Given the description of an element on the screen output the (x, y) to click on. 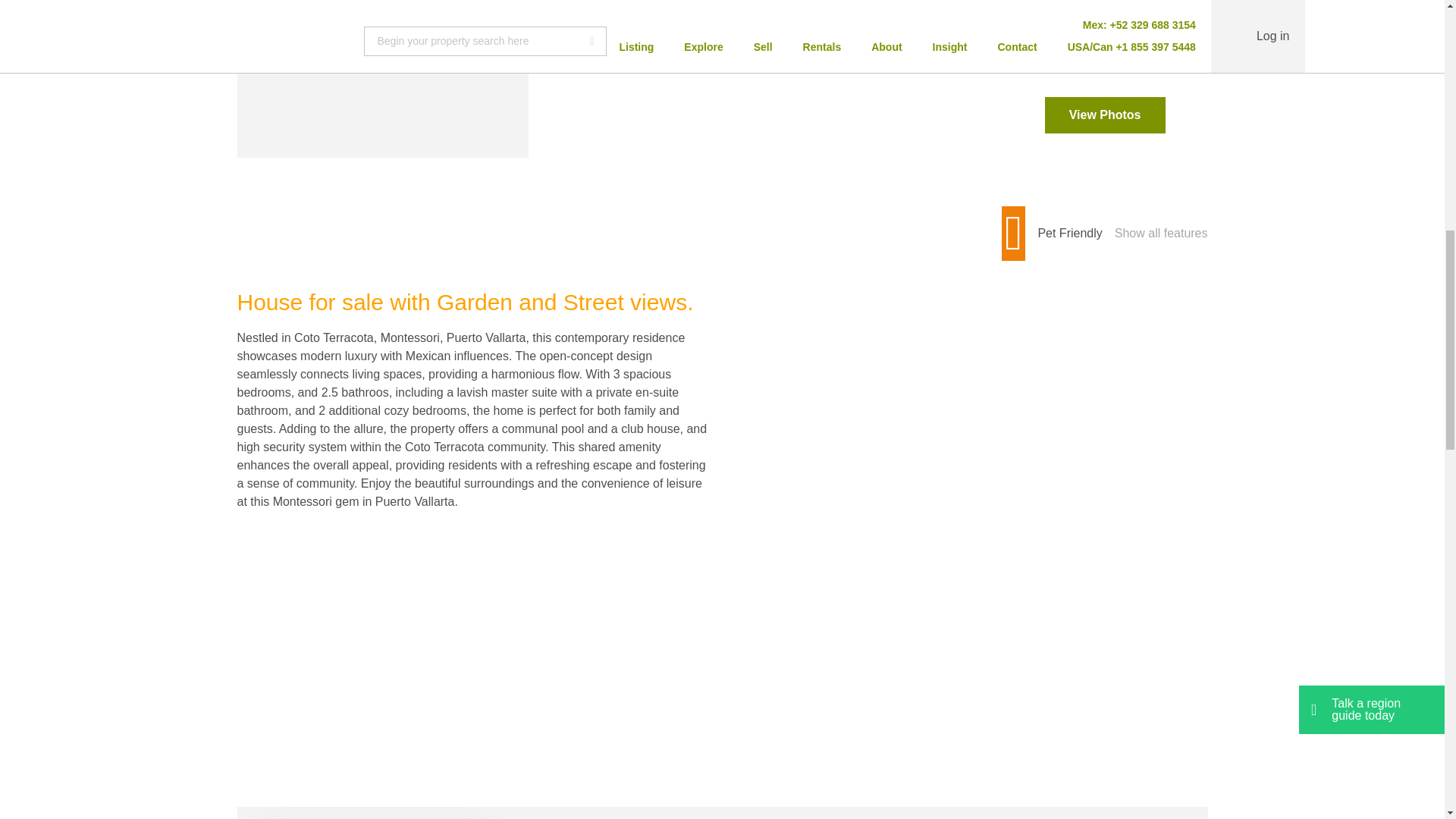
View Photos (1105, 115)
on (373, 46)
on (1161, 233)
